Given the description of an element on the screen output the (x, y) to click on. 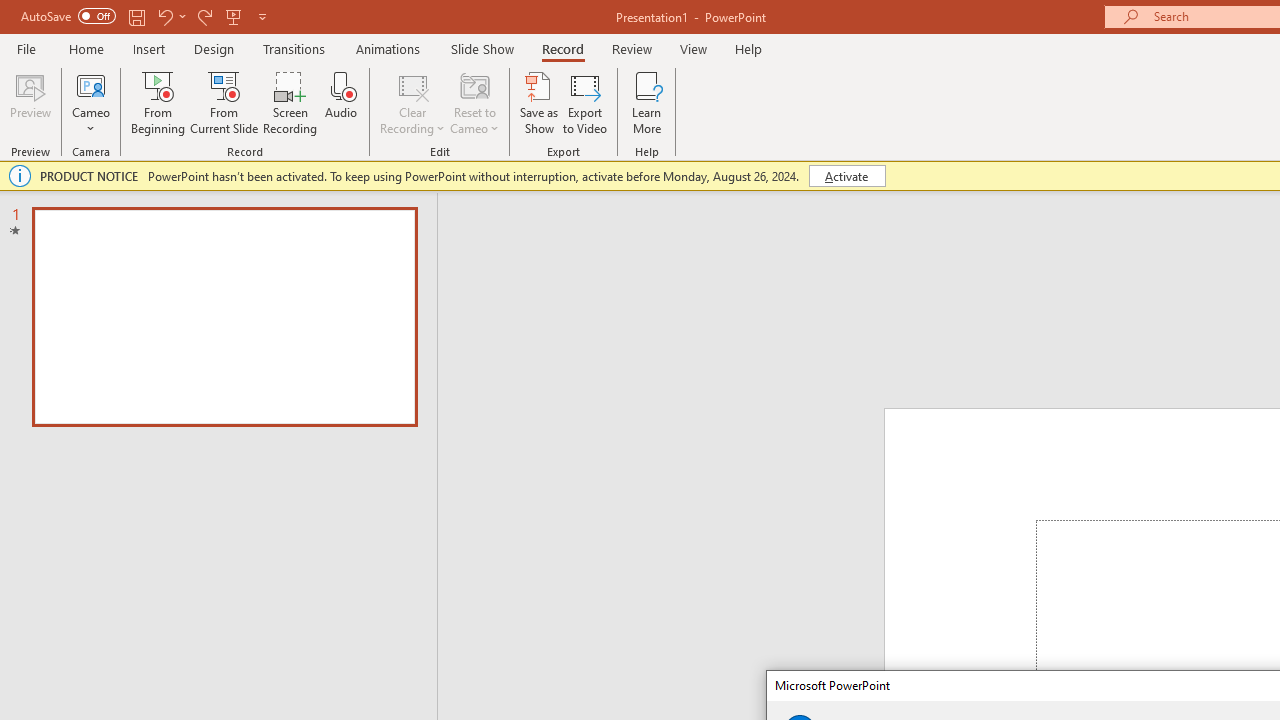
Activate (846, 175)
